Given the description of an element on the screen output the (x, y) to click on. 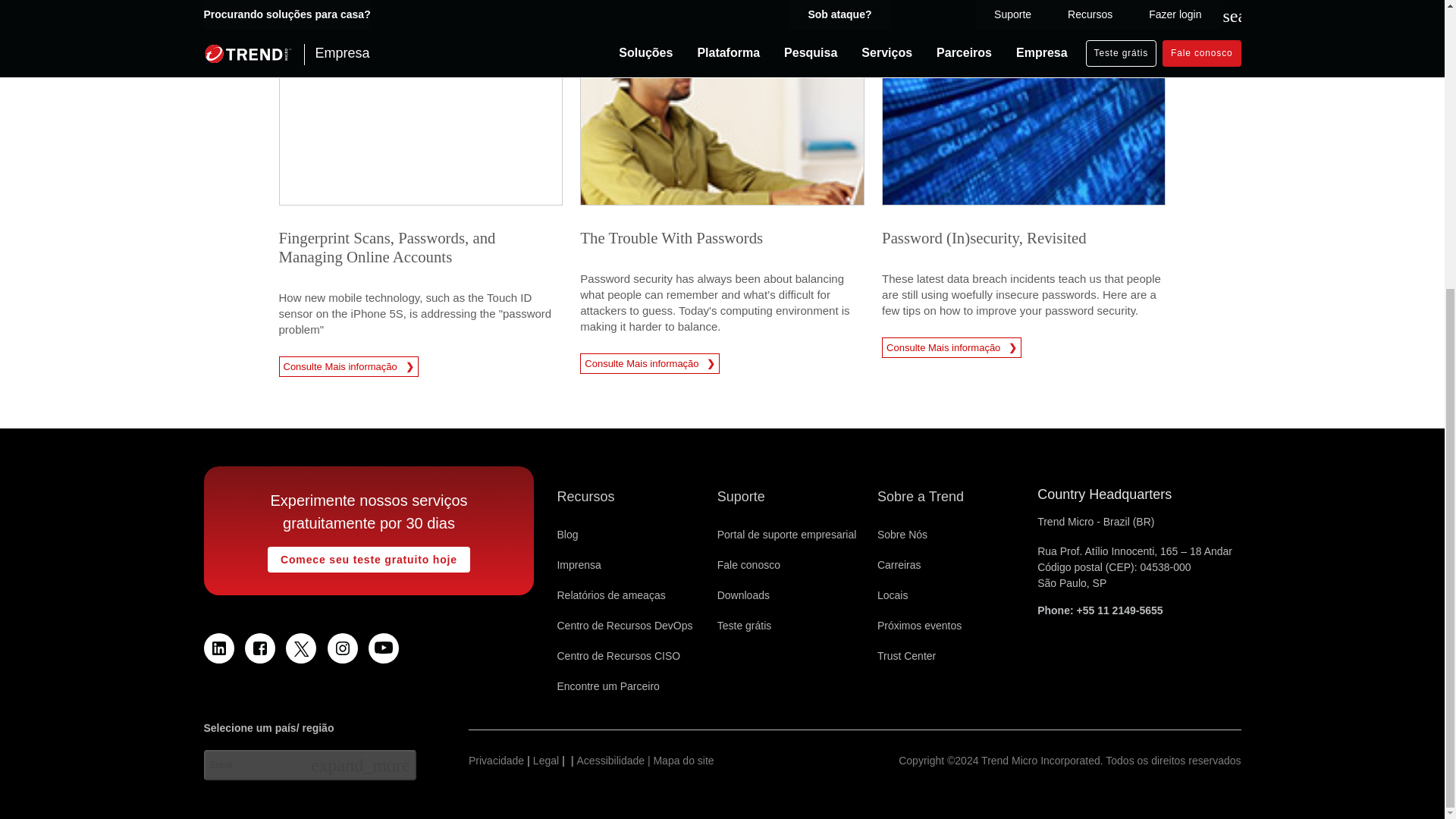
Legal (545, 760)
privacy (496, 760)
Site map (645, 760)
